Given the description of an element on the screen output the (x, y) to click on. 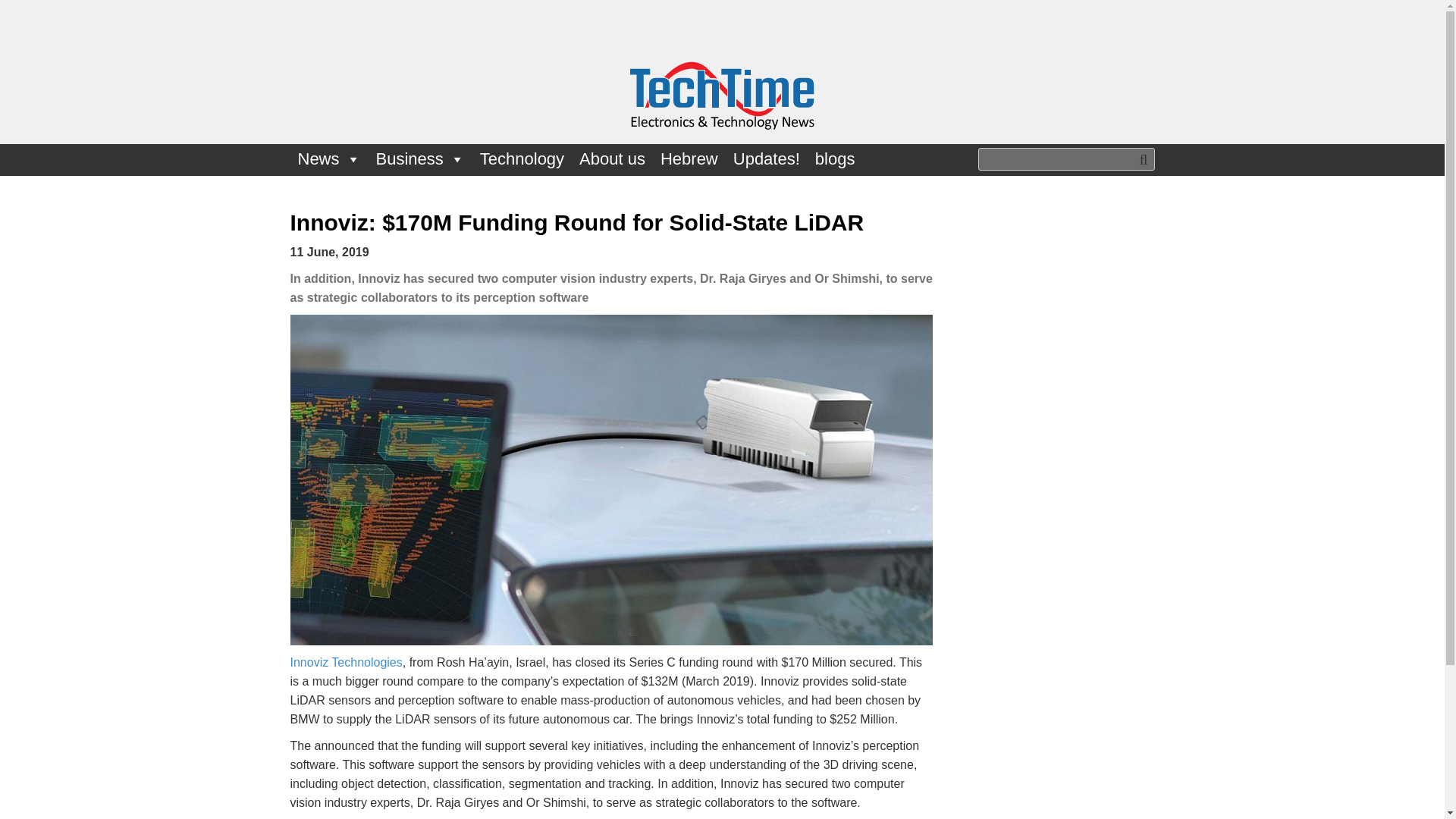
Technology (521, 159)
blogs (835, 159)
Business (419, 159)
News (328, 159)
Updates! (766, 159)
Hebrew (688, 159)
About us (612, 159)
